Given the description of an element on the screen output the (x, y) to click on. 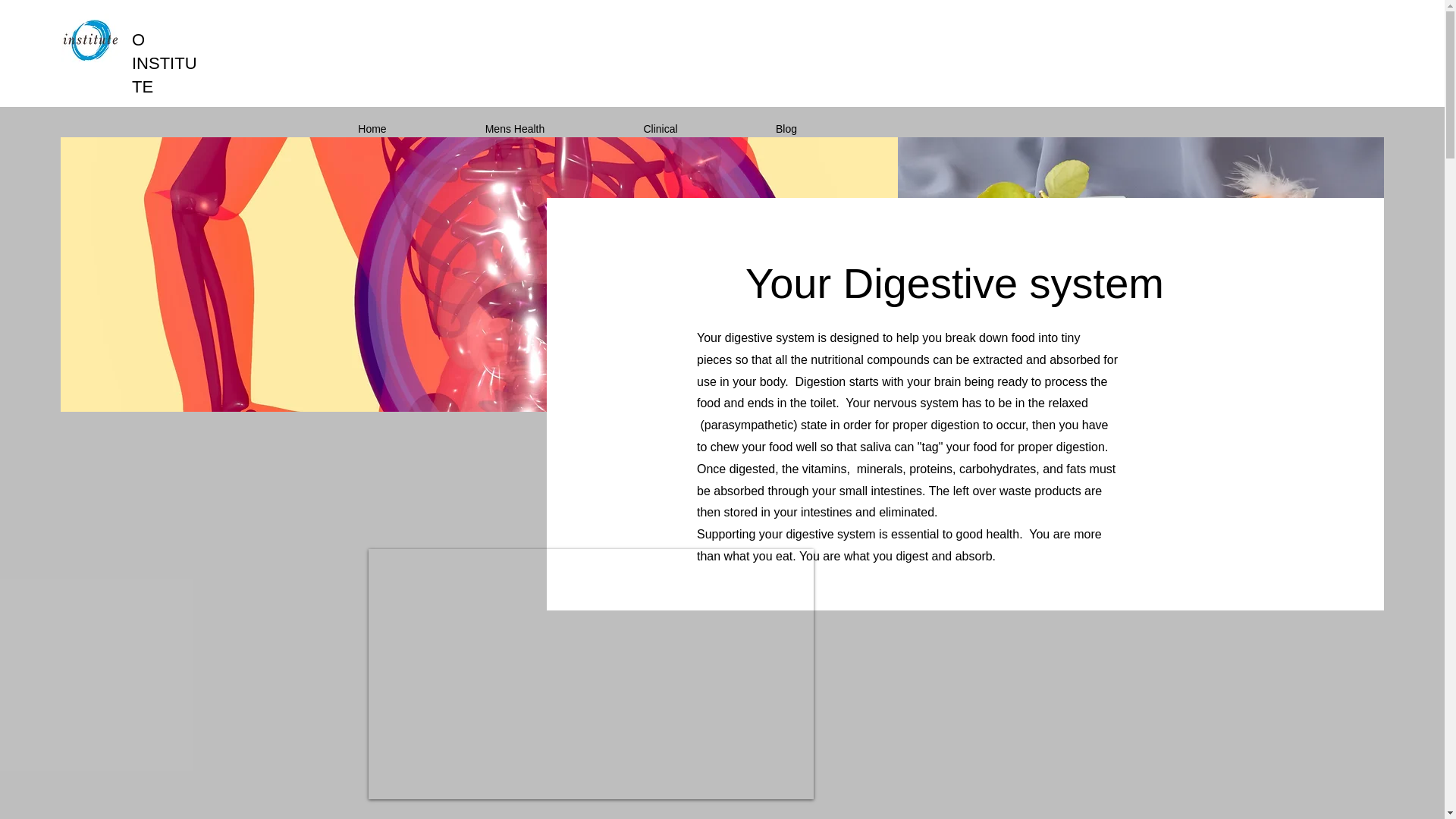
Clinical (660, 128)
Blog (785, 128)
Mens Health (514, 128)
Home (371, 128)
